Given the description of an element on the screen output the (x, y) to click on. 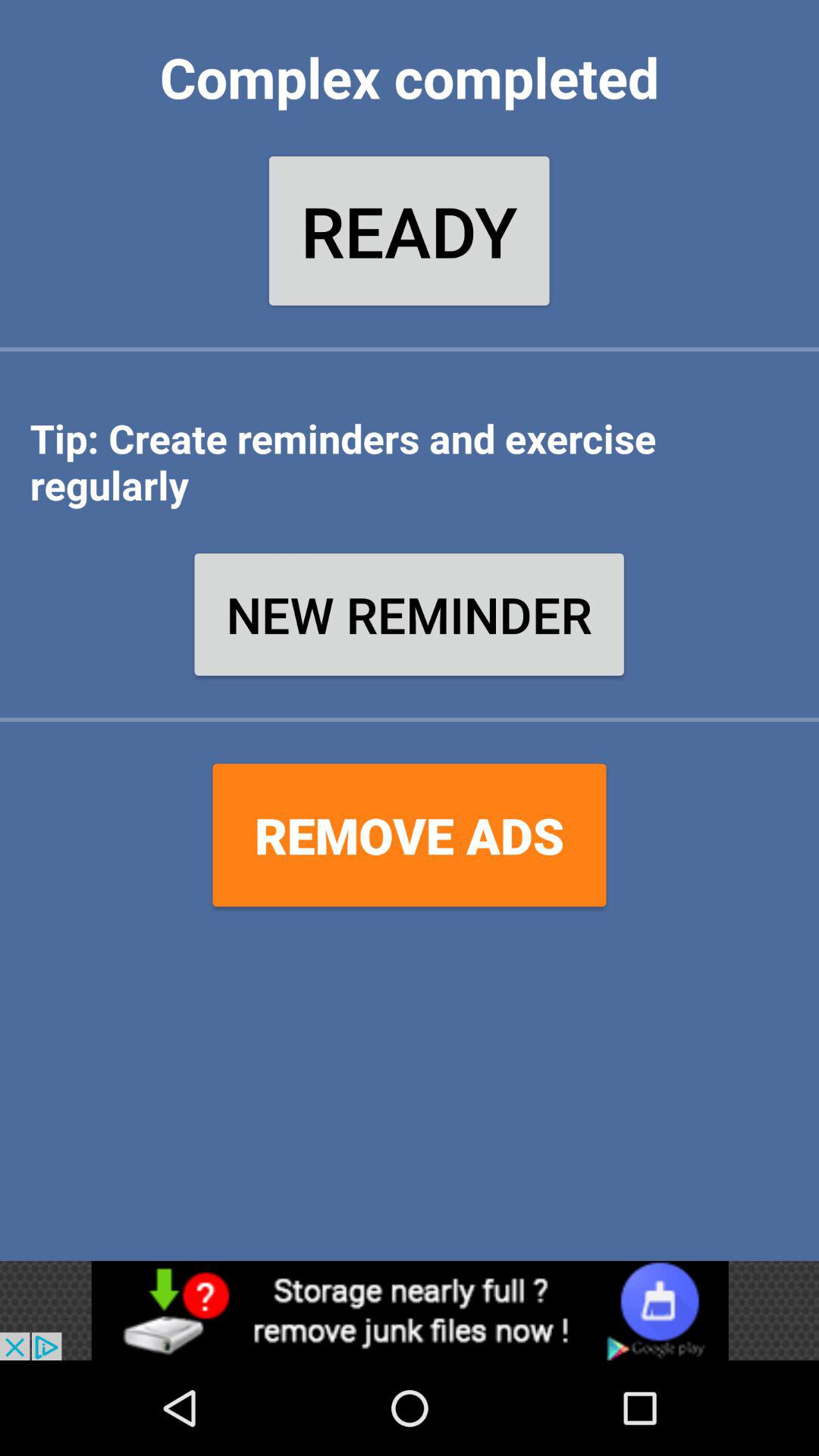
select advertisement (409, 1310)
